Given the description of an element on the screen output the (x, y) to click on. 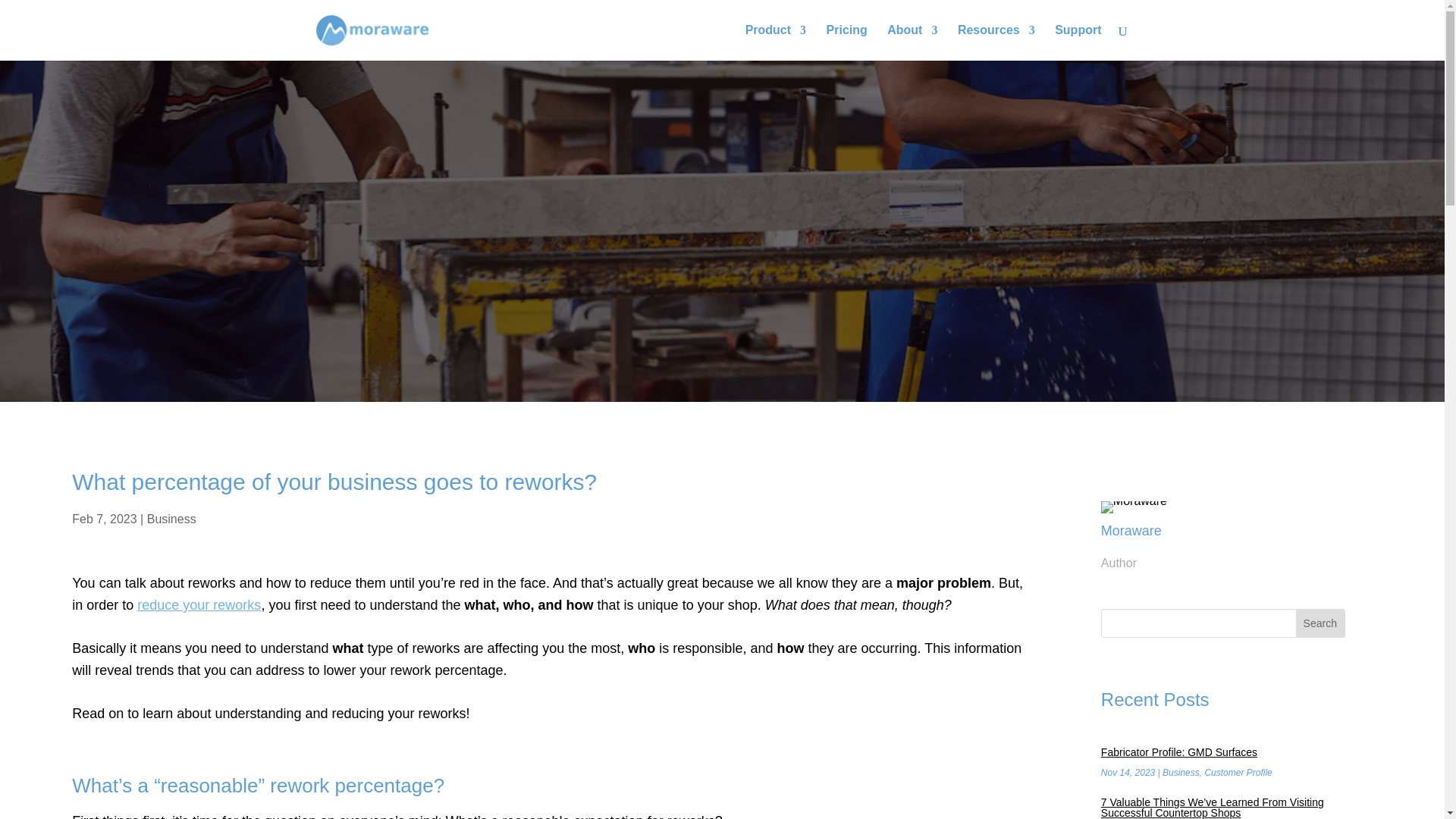
Pricing (847, 42)
Product (775, 42)
Search (1319, 623)
Business (171, 518)
About (911, 42)
Support (1077, 42)
Resources (996, 42)
Search (1319, 623)
reduce your reworks (198, 604)
